Given the description of an element on the screen output the (x, y) to click on. 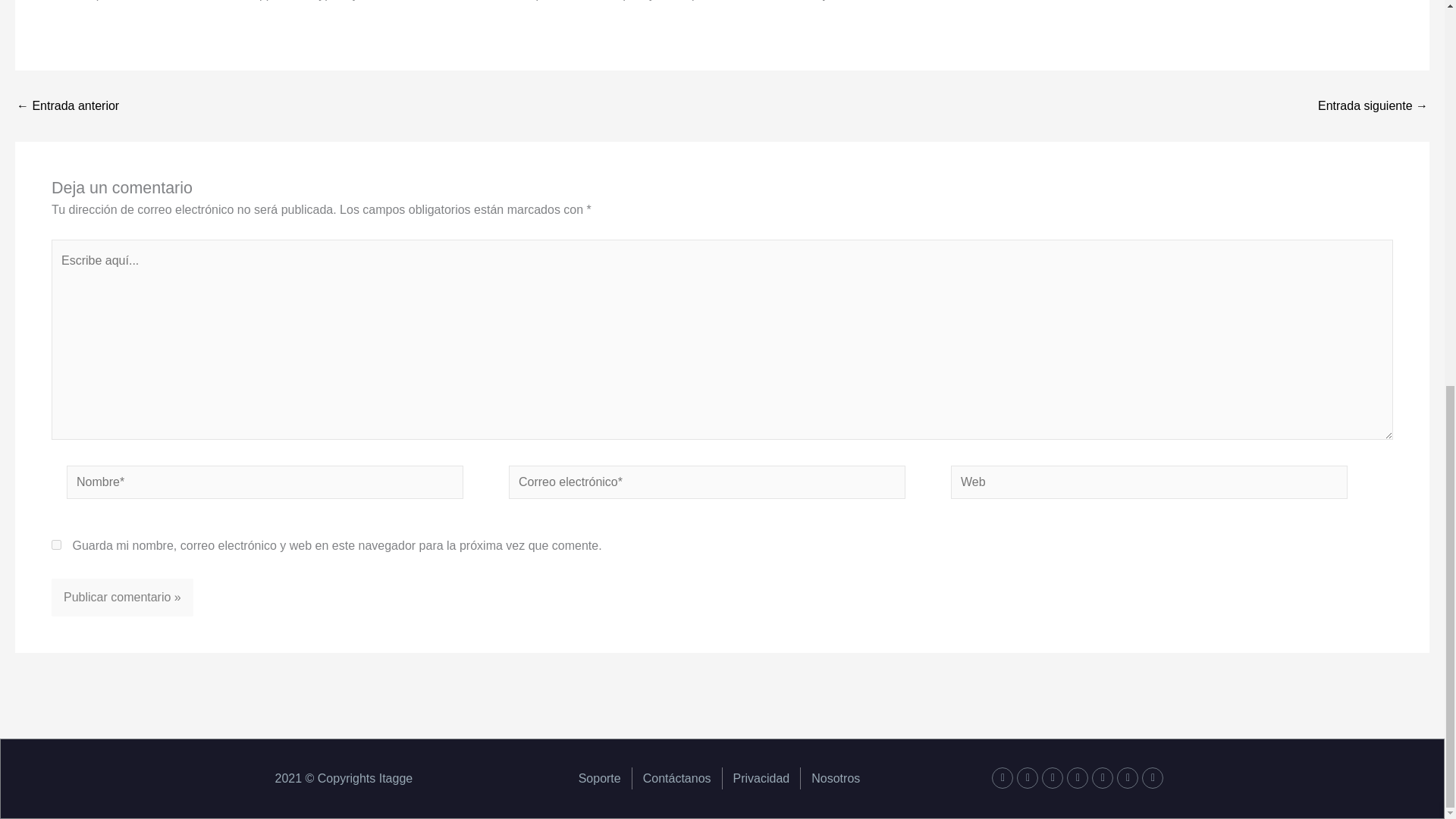
Privacidad (761, 778)
Weixin (1127, 777)
Soporte (599, 778)
Youtube (1052, 777)
Nosotros (835, 778)
Facebook (1002, 777)
Pinterest (1077, 777)
yes (55, 544)
Take care of Your Data Having a Data Area (67, 105)
Twitter (1027, 777)
